Given the description of an element on the screen output the (x, y) to click on. 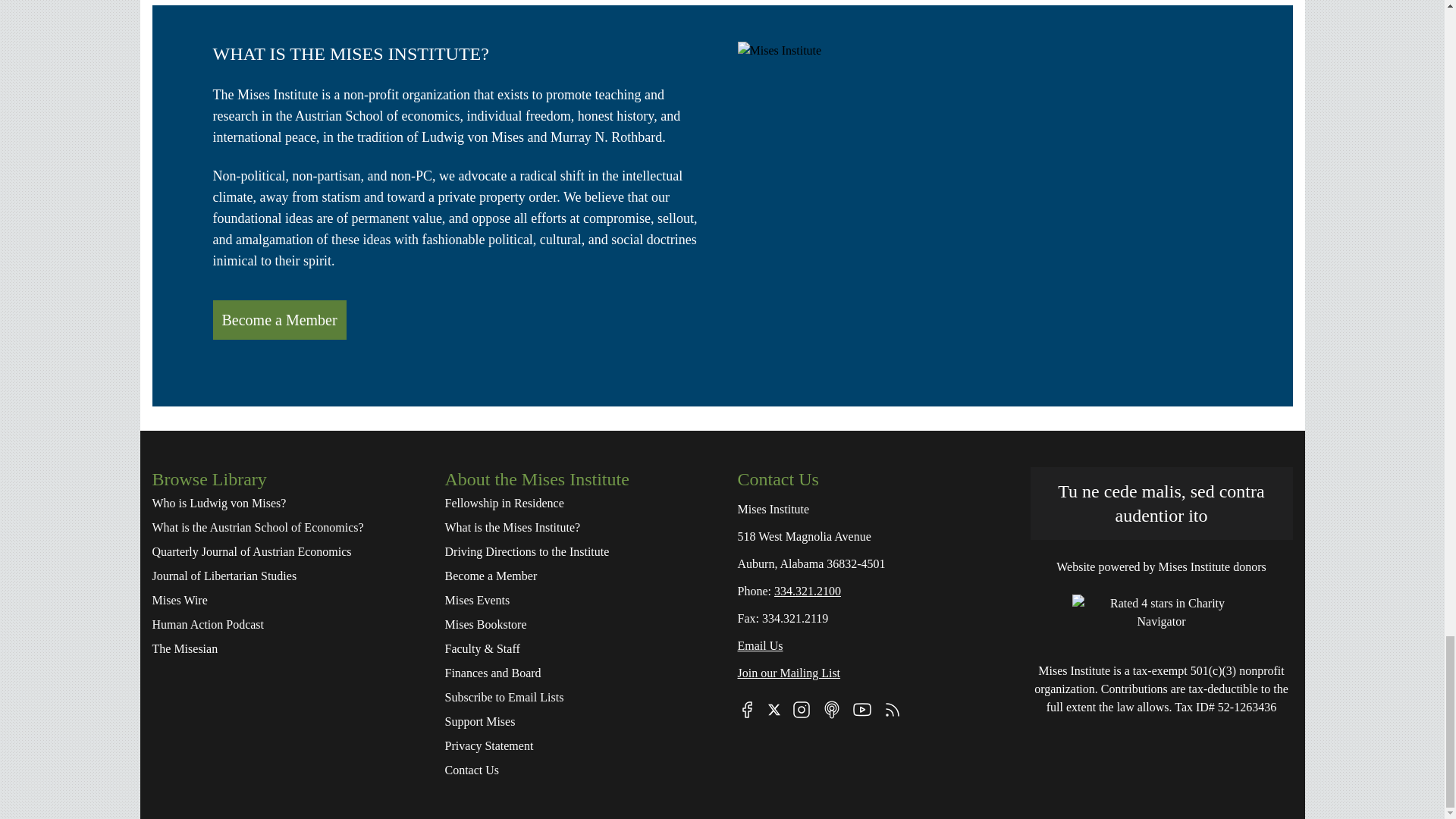
The Misesian (282, 648)
